Given the description of an element on the screen output the (x, y) to click on. 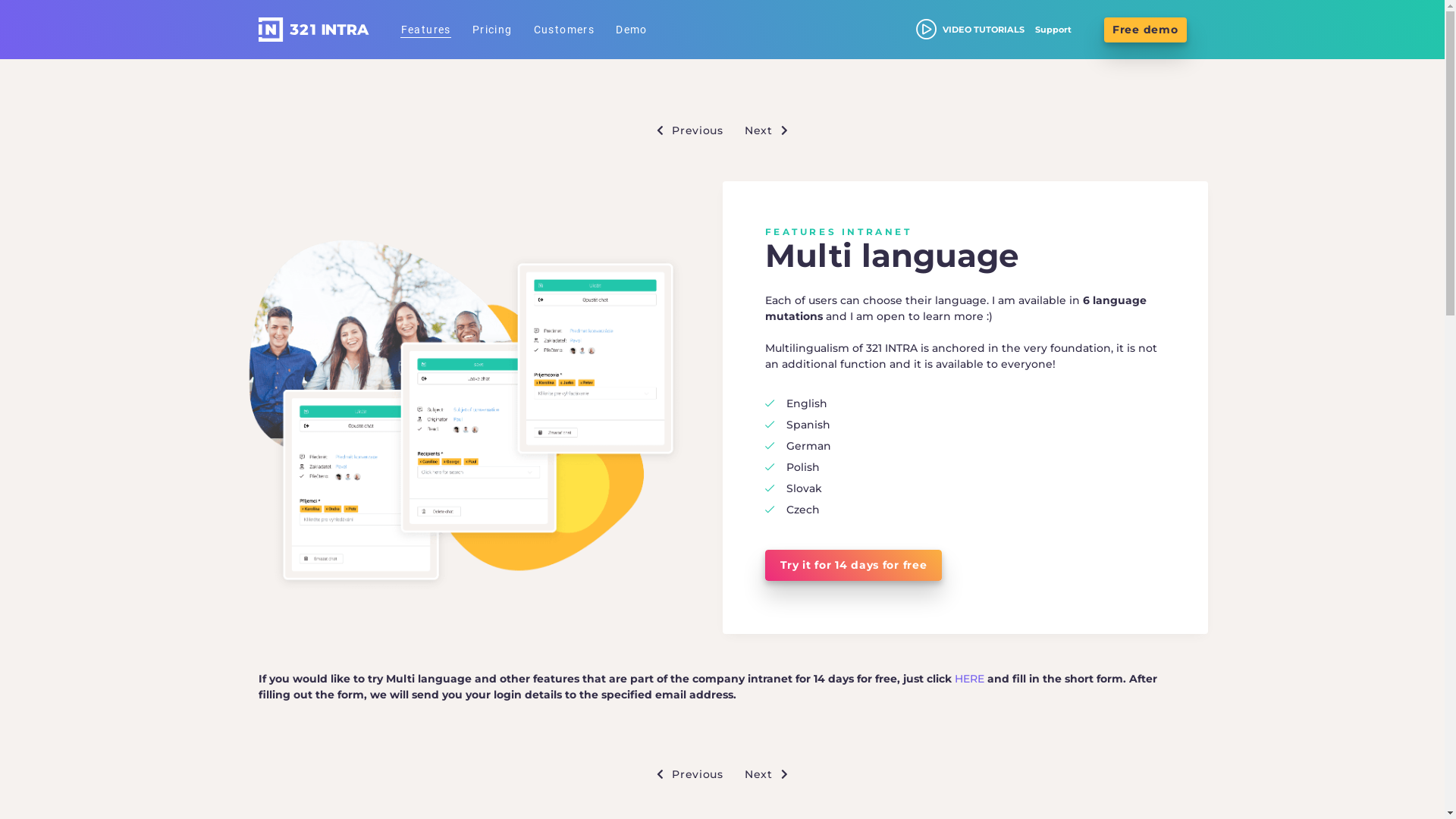
Demo Element type: text (631, 29)
Try it for 14 days for free Element type: text (852, 564)
321 Intranet Element type: hover (312, 29)
Pricing Element type: text (492, 29)
Features Element type: text (425, 29)
VIDEO TUTORIALS Element type: hover (926, 29)
Previous Element type: text (687, 773)
Free demo Element type: text (1145, 28)
Next Element type: text (769, 129)
Support Element type: text (1053, 29)
Previous Element type: text (687, 129)
VIDEO TUTORIALS Element type: text (970, 29)
Next Element type: text (769, 773)
HERE Element type: text (968, 678)
Customers Element type: text (564, 29)
